Given the description of an element on the screen output the (x, y) to click on. 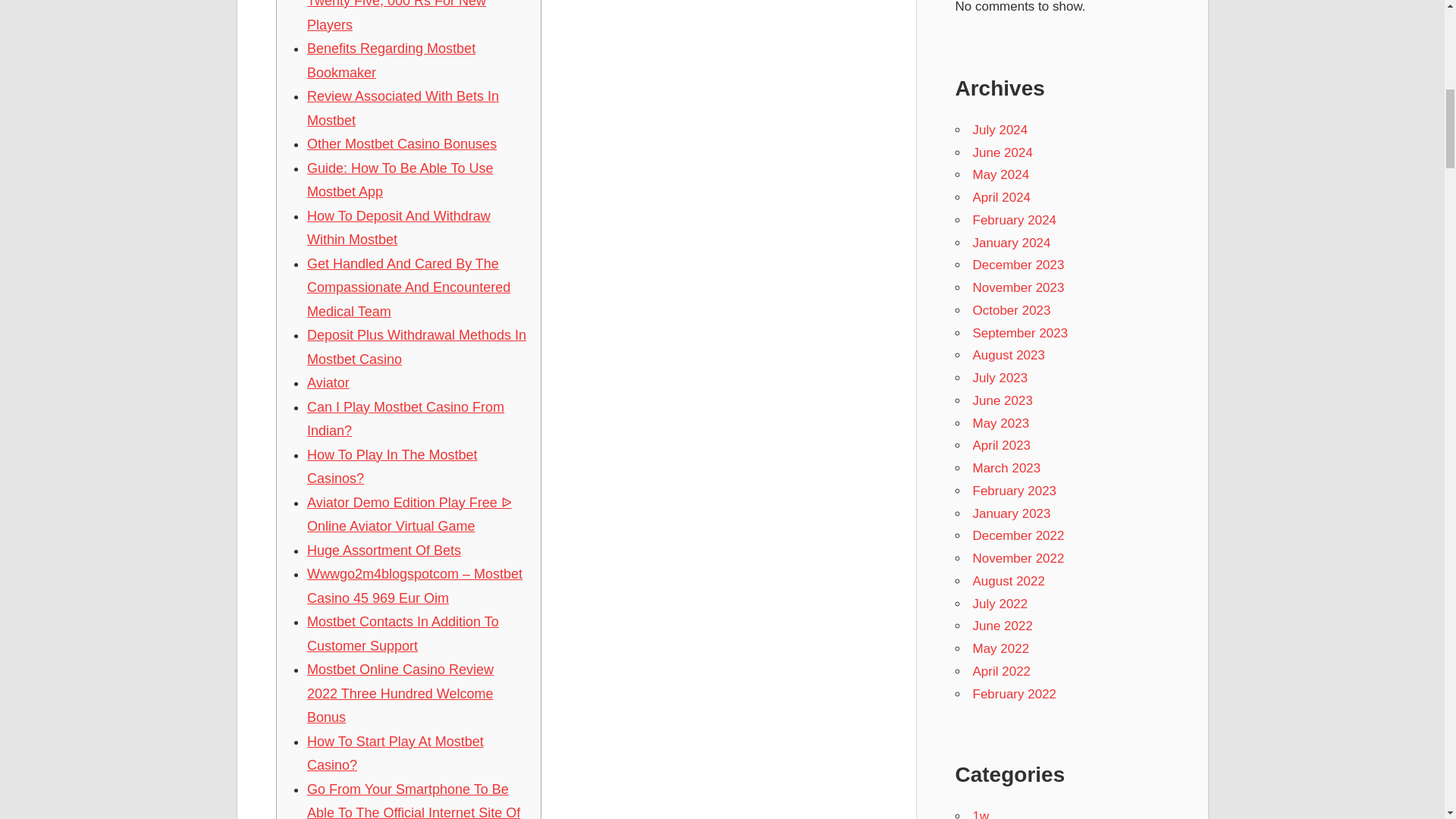
Huge Assortment Of Bets (384, 549)
Deposit Plus Withdrawal Methods In Mostbet Casino (416, 346)
Benefits Regarding Mostbet Bookmaker (391, 60)
Review Associated With Bets In Mostbet (403, 107)
How To Start Play At Mostbet Casino? (395, 753)
Aviator (328, 382)
How To Play In The Mostbet Casinos? (392, 466)
Guide: How To Be Able To Use Mostbet App (400, 179)
How To Deposit And Withdraw Within Mostbet (398, 228)
Can I Play Mostbet Casino From Indian? (405, 418)
Mostbet Contacts In Addition To Customer Support (403, 633)
Other Mostbet Casino Bonuses (401, 143)
